Given the description of an element on the screen output the (x, y) to click on. 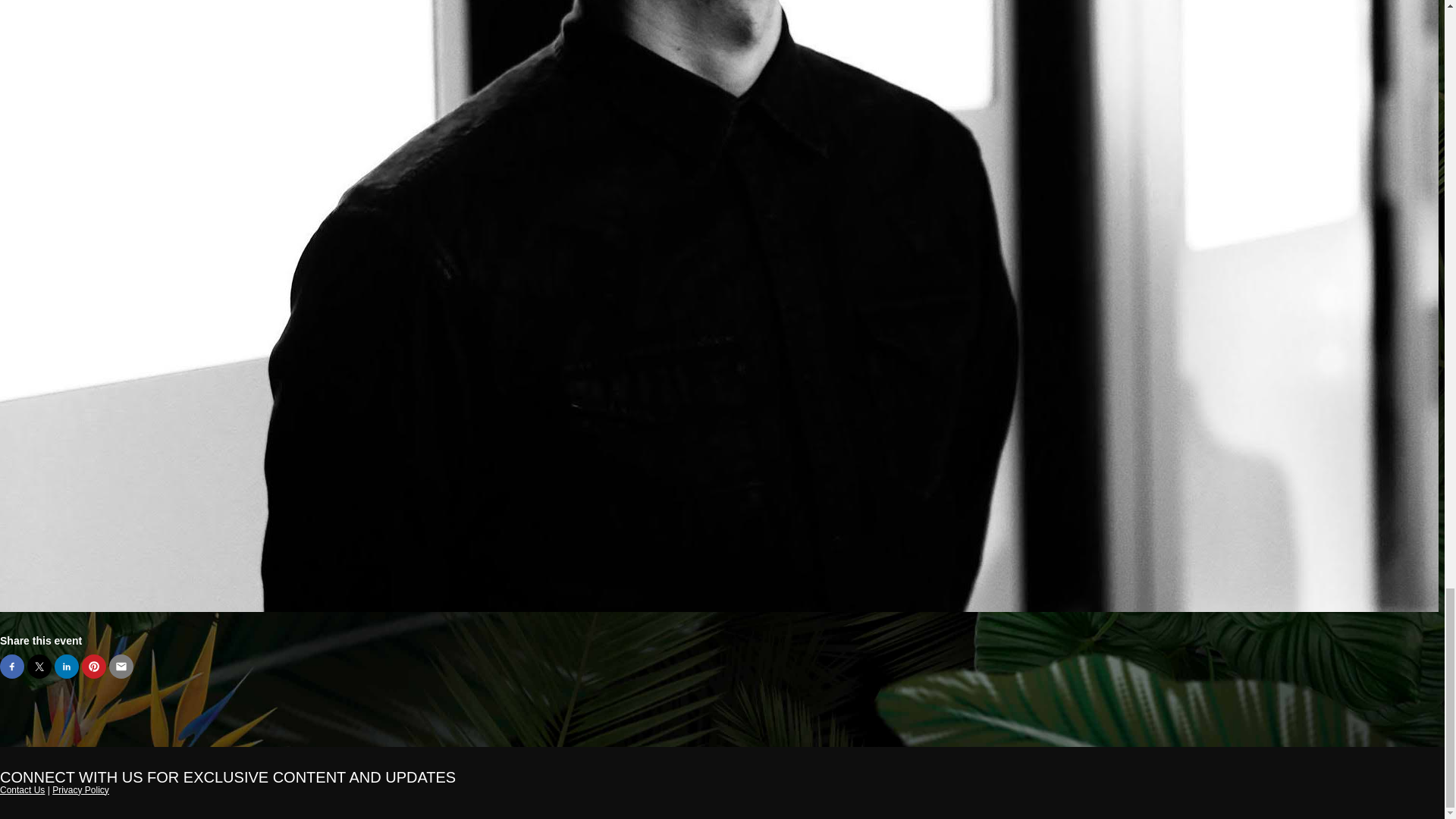
Contact Us (22, 788)
Privacy Policy (80, 788)
